Given the description of an element on the screen output the (x, y) to click on. 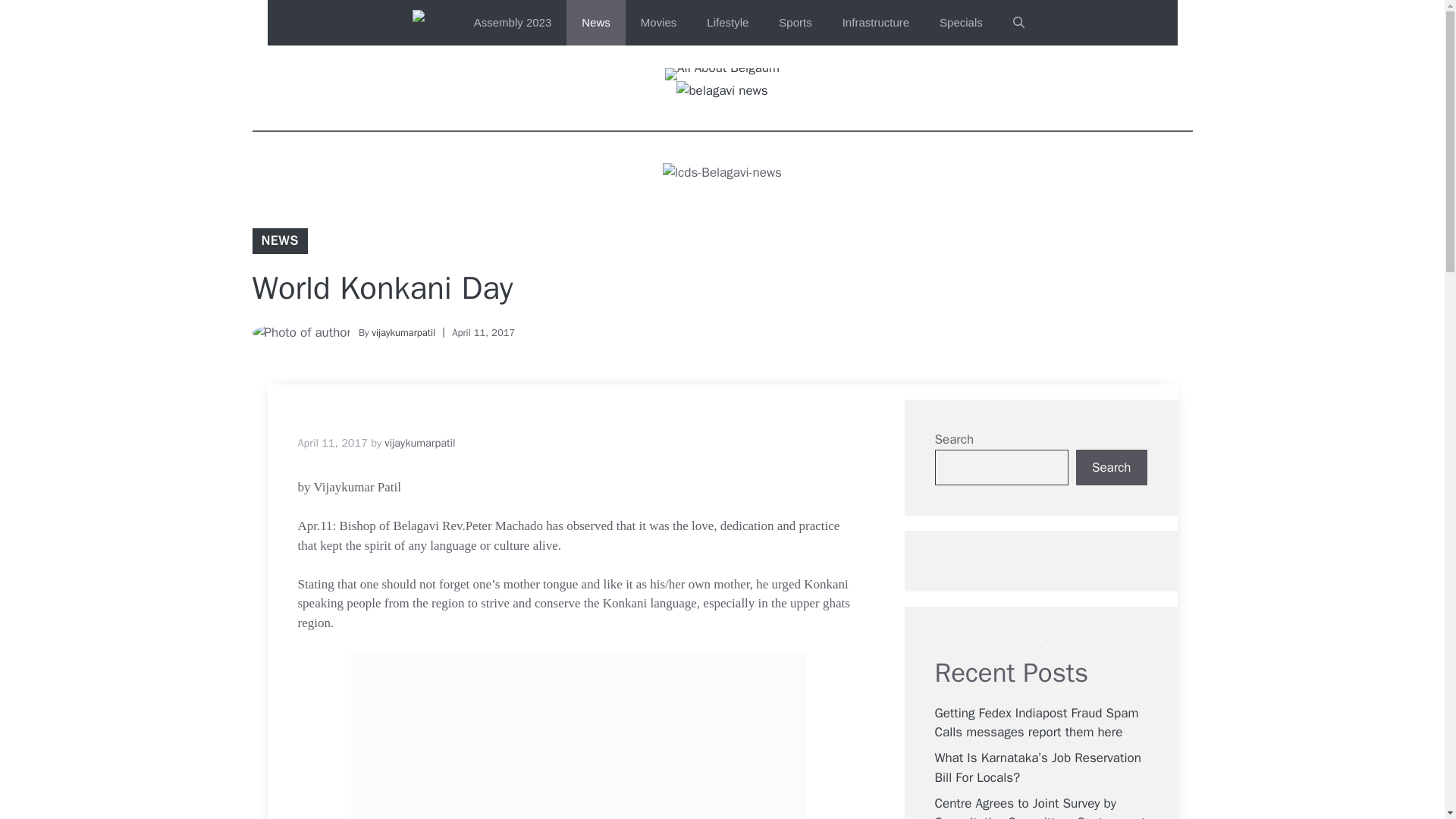
Infrastructure (875, 22)
Movies (659, 22)
Specials (960, 22)
News (596, 22)
All About Belgaum (431, 22)
Sports (794, 22)
Search (1111, 467)
Lifestyle (726, 22)
vijaykumarpatil (403, 332)
vijaykumarpatil (419, 442)
NEWS (279, 240)
Assembly 2023 (512, 22)
